Given the description of an element on the screen output the (x, y) to click on. 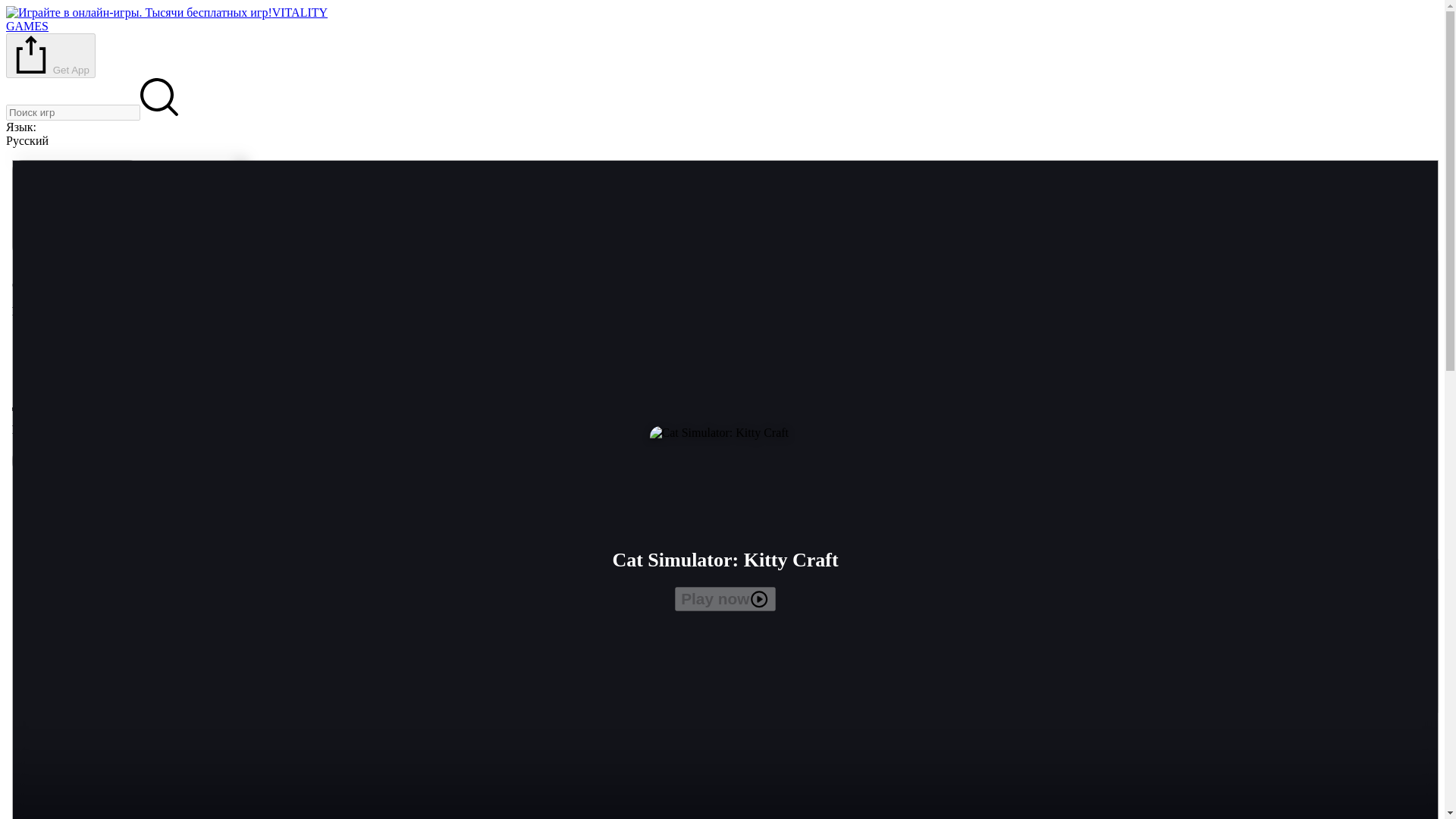
Play now (166, 18)
Get App (725, 598)
